Given the description of an element on the screen output the (x, y) to click on. 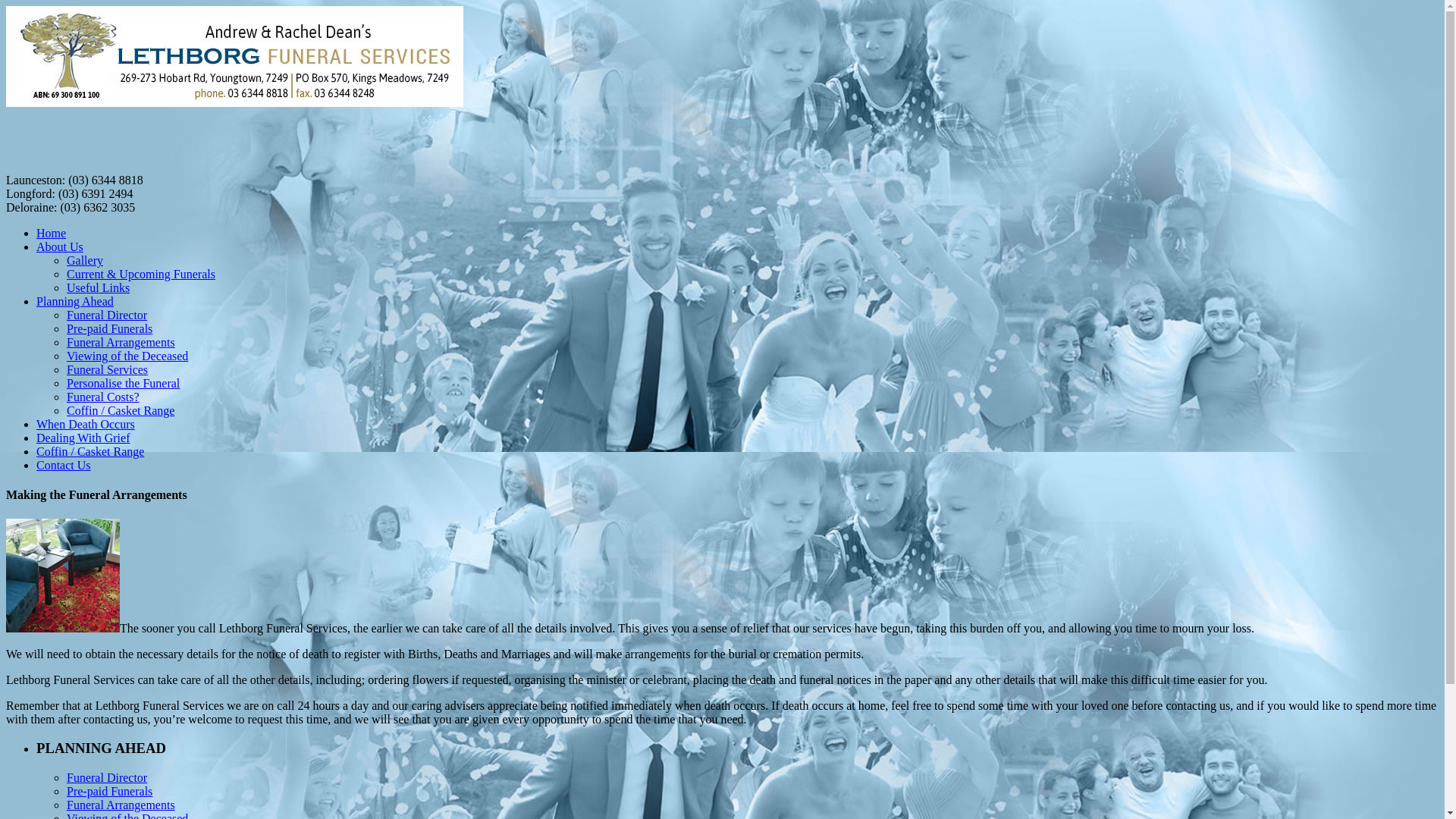
When Death Occurs Element type: text (85, 423)
Funeral Services Element type: text (106, 369)
Funeral Director Element type: text (106, 314)
Funeral Costs? Element type: text (102, 396)
About Us Element type: text (59, 246)
Funeral Arrangements Element type: text (120, 341)
Viewing of the Deceased Element type: text (127, 355)
Funeral Arrangements Element type: text (120, 804)
Gallery Element type: text (84, 260)
Home Element type: text (50, 232)
Funeral Director Element type: text (106, 777)
Pre-paid Funerals Element type: text (109, 328)
Dealing With Grief Element type: text (82, 437)
Coffin / Casket Range Element type: text (120, 410)
Pre-paid Funerals Element type: text (109, 790)
Current & Upcoming Funerals Element type: text (140, 273)
Contact Us Element type: text (63, 464)
Planning Ahead Element type: text (74, 300)
Coffin / Casket Range Element type: text (90, 451)
Personalise the Funeral Element type: text (122, 382)
Useful Links Element type: text (97, 287)
